Given the description of an element on the screen output the (x, y) to click on. 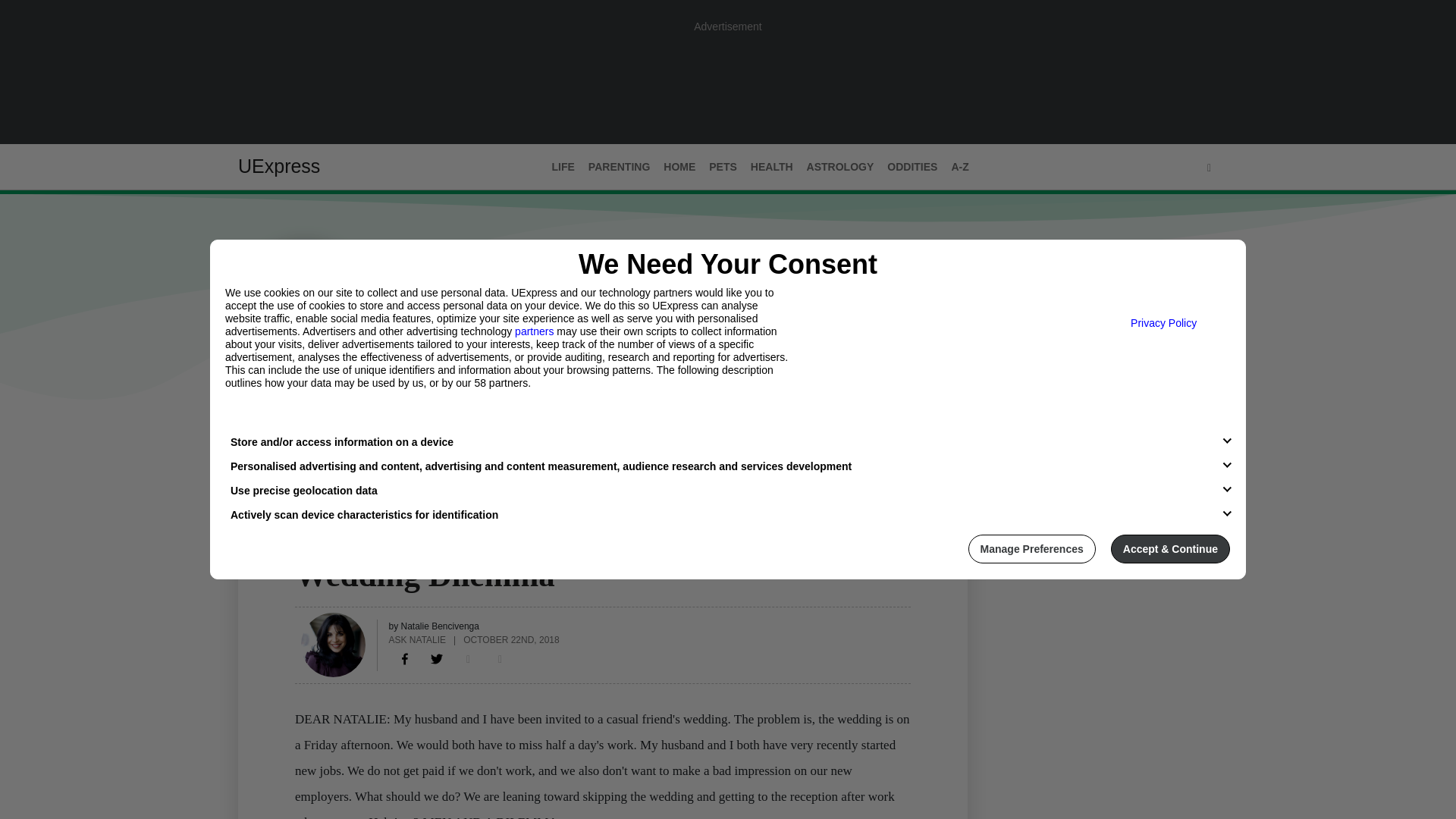
ODDITIES (911, 166)
LIFE (562, 166)
Latest (256, 431)
About (309, 431)
HEALTH (771, 166)
Wedding Dilemma (404, 658)
ASK NATALIE (416, 639)
UExpress (279, 166)
A-Z (959, 166)
HOME (678, 166)
LIFE (306, 545)
Archives (371, 431)
PETS (722, 166)
ASTROLOGY (839, 166)
PARENTING (618, 166)
